Given the description of an element on the screen output the (x, y) to click on. 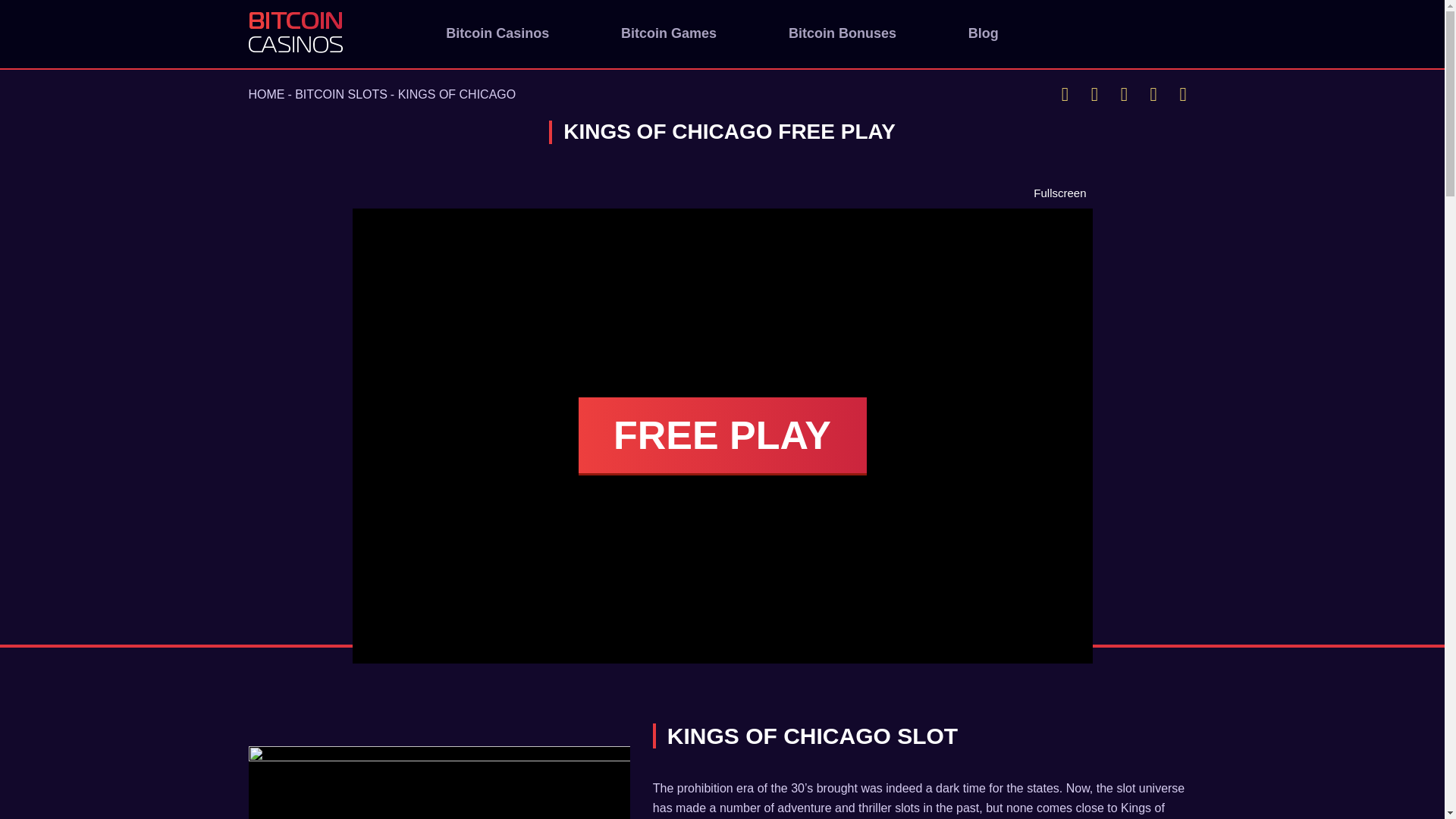
BITCOIN SLOTS (341, 93)
HOME (266, 93)
Bitcoin Bonuses (842, 33)
Bitcoin Casinos (497, 33)
Blog (982, 33)
Bitcoin Games (668, 33)
